Given the description of an element on the screen output the (x, y) to click on. 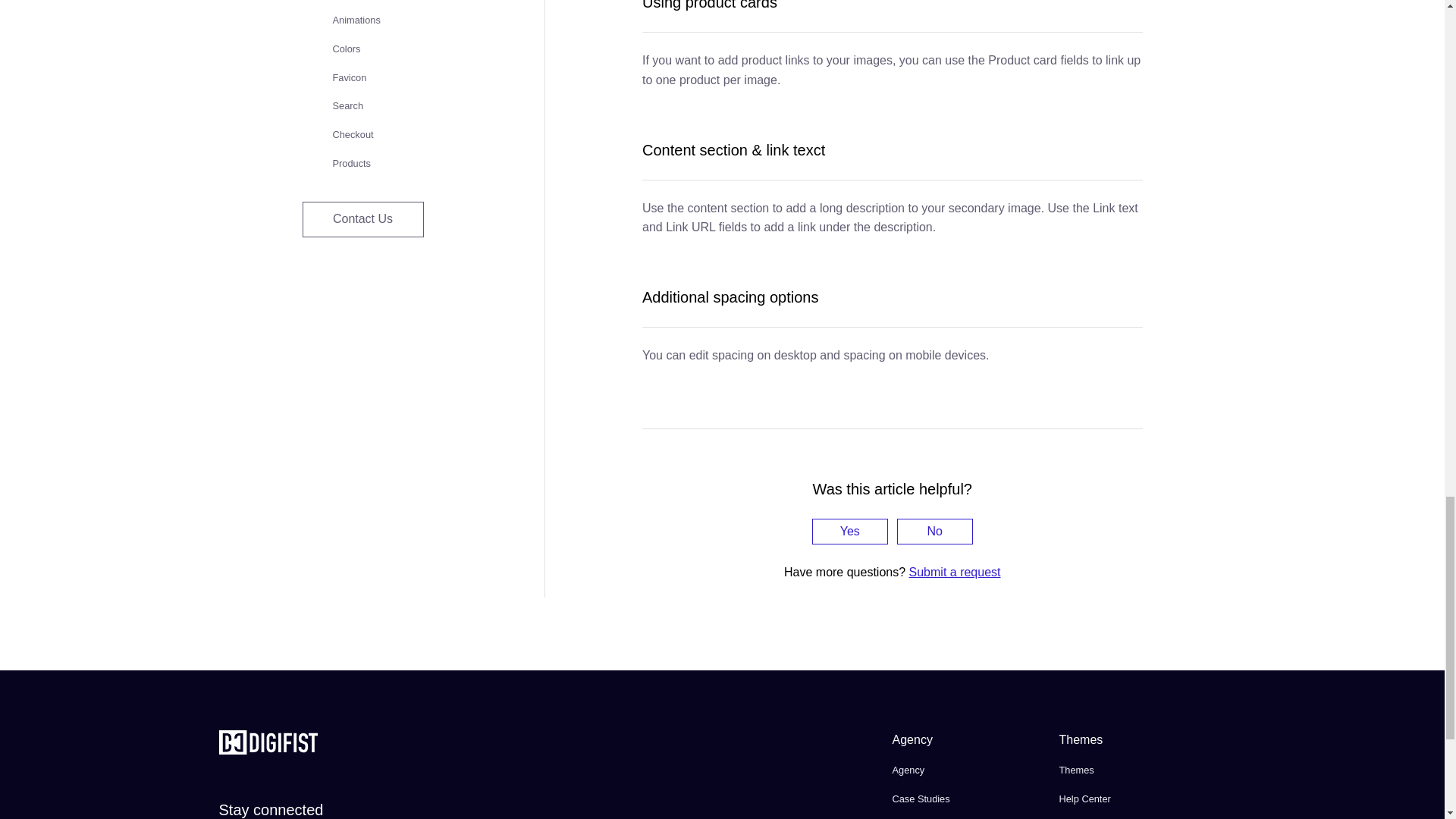
logo (267, 749)
